Given the description of an element on the screen output the (x, y) to click on. 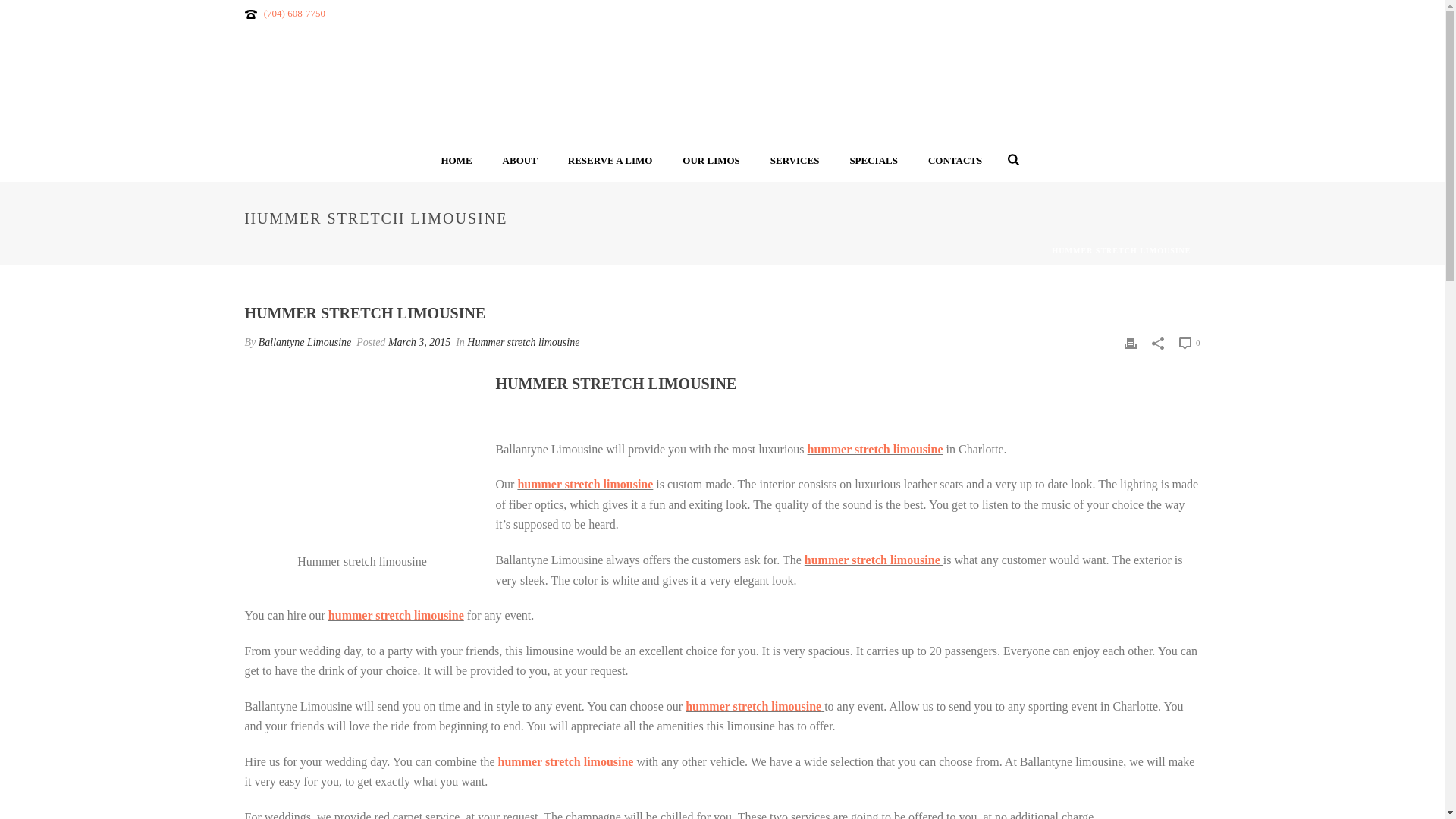
RESERVE A LIMO (610, 160)
HOME (455, 160)
CONTACTS (954, 160)
HOME (455, 160)
Posts by Ballantyne Limousine (305, 342)
OUR LIMOS (710, 160)
RESERVE A LIMO (610, 160)
SPECIALS (873, 160)
OUR LIMOS (710, 160)
SPECIALS (873, 160)
ABOUT (520, 160)
SERVICES (794, 160)
CONTACTS (954, 160)
SERVICES (794, 160)
Ballantyne Limousine (721, 83)
